Given the description of an element on the screen output the (x, y) to click on. 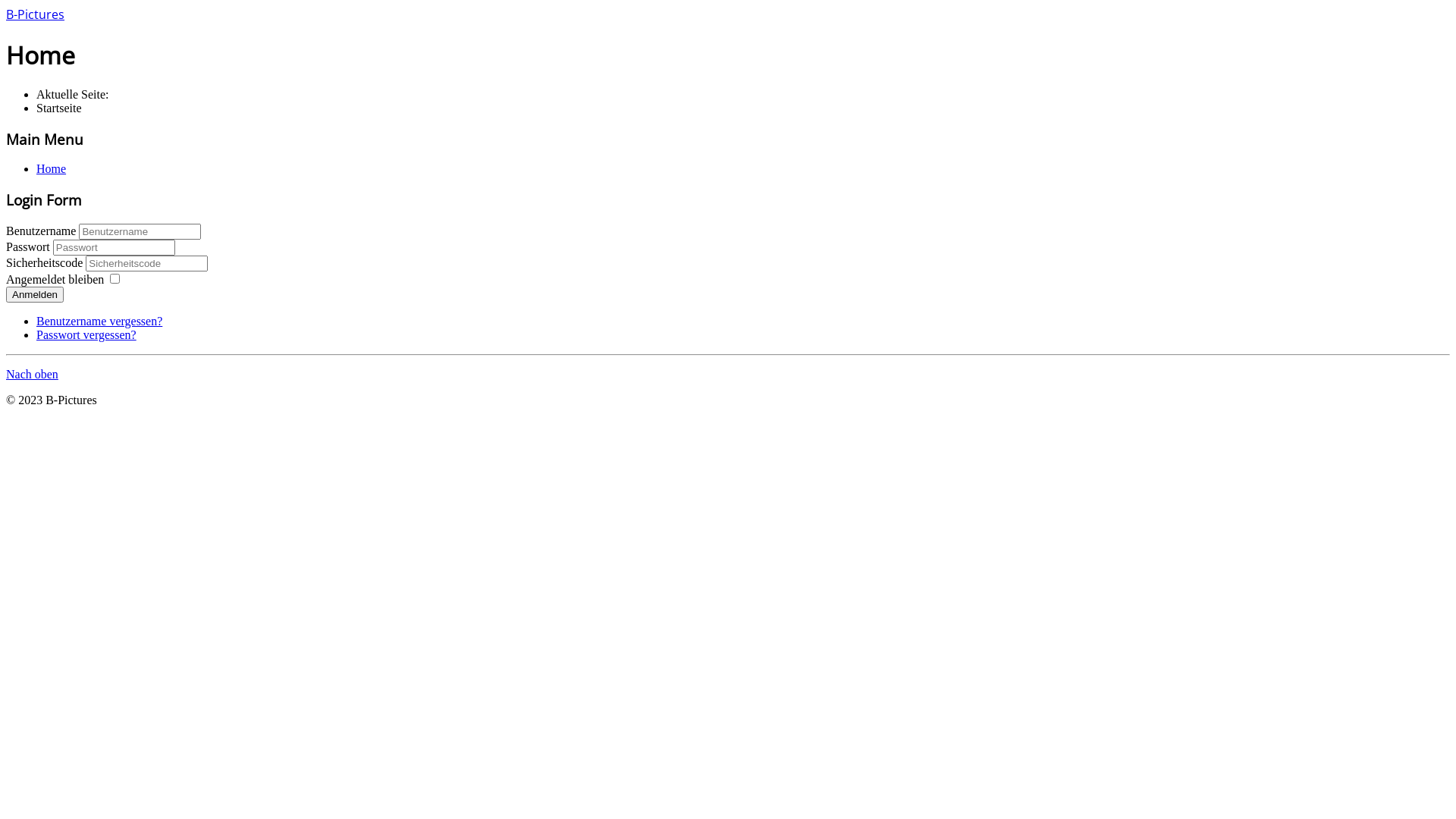
Home Element type: text (50, 168)
Passwort vergessen? Element type: text (86, 334)
Anmelden Element type: text (34, 294)
Nach oben Element type: text (32, 373)
Benutzername vergessen? Element type: text (99, 320)
B-Pictures Element type: text (35, 14)
